Given the description of an element on the screen output the (x, y) to click on. 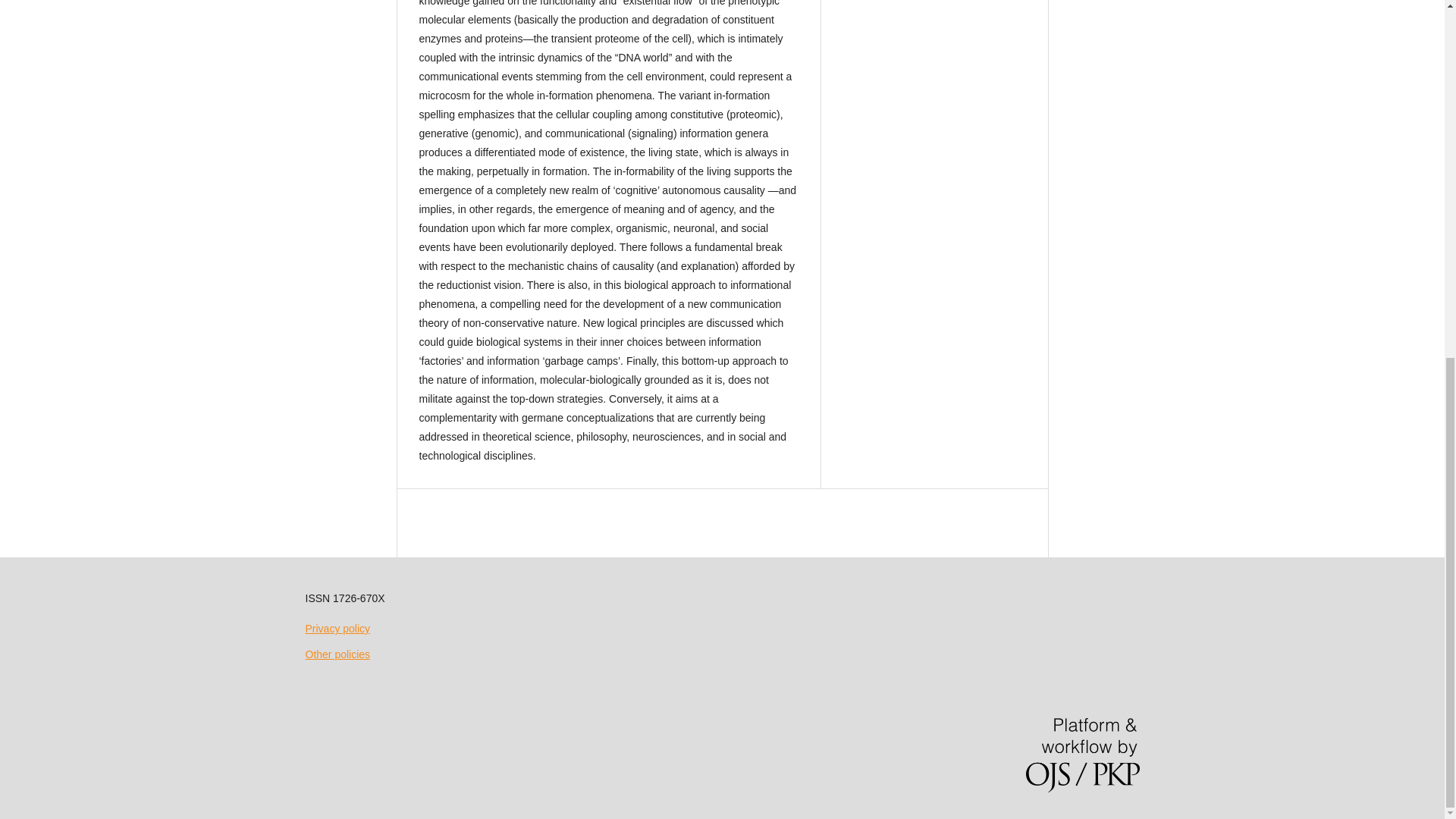
Privacy policy (336, 628)
Other policies (336, 654)
